Given the description of an element on the screen output the (x, y) to click on. 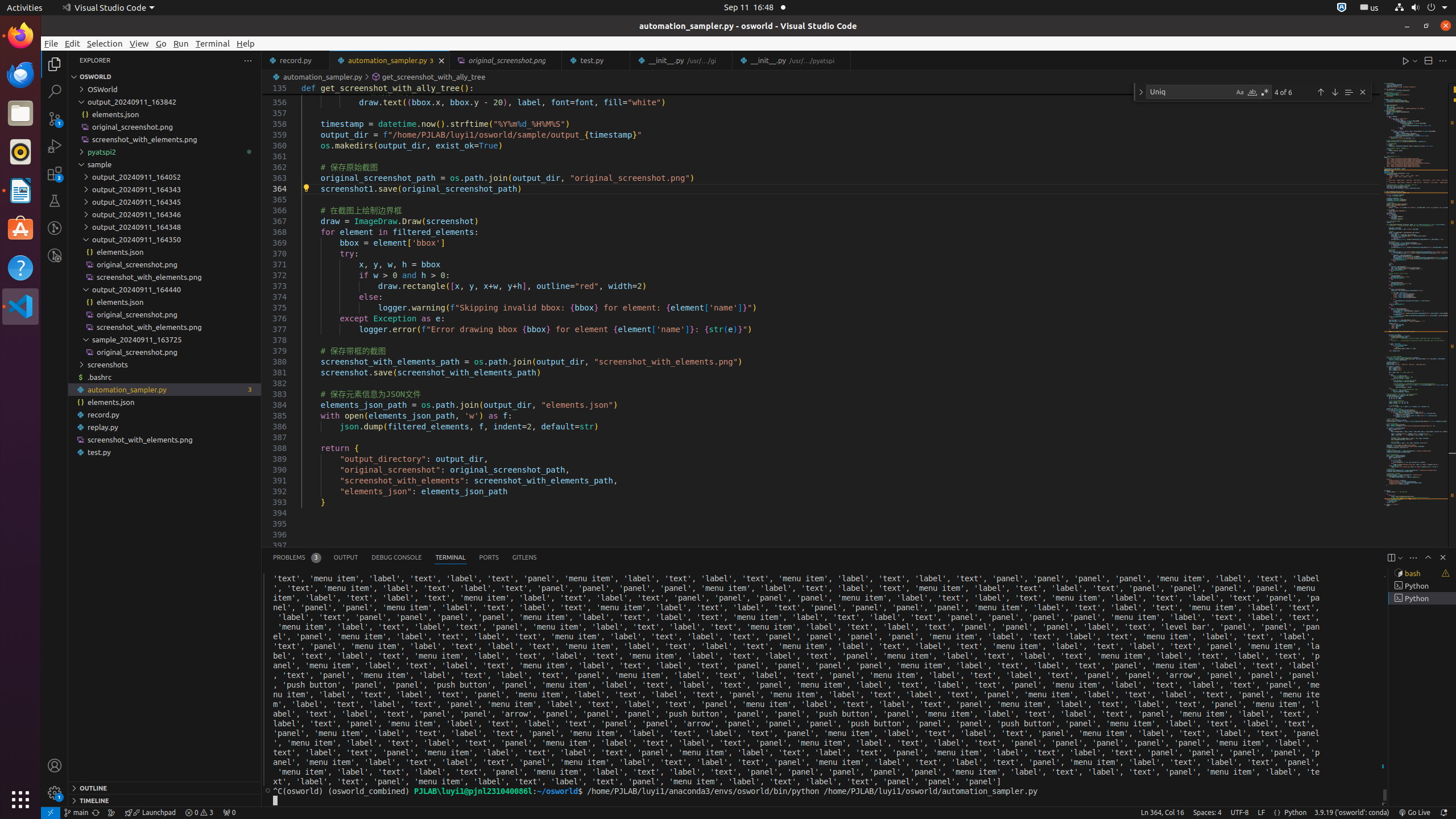
sample Element type: tree-item (164, 164)
GitLens Inspect Element type: page-tab (54, 255)
rocket gitlens-unplug Launchpad, GitLens Launchpad ᴘʀᴇᴠɪᴇᴡ    &mdash;    [$(question)](command:gitlens.launchpad.indicator.action?%22info%22 "What is this?") [$(gear)](command:workbench.action.openSettings?%22gitlens.launchpad%22 "Settings")  |  [$(circle-slash) Hide](command:gitlens.launchpad.indicator.action?%22hide%22 "Hide") --- [Launchpad](command:gitlens.launchpad.indicator.action?%info%22 "Learn about Launchpad") organizes your pull requests into actionable groups to help you focus and keep your team unblocked. It's always accessible using the `GitLens: Open Launchpad` command from the Command Palette. --- [Connect an integration](command:gitlens.showLaunchpad?%7B%22source%22%3A%22launchpad-indicator%22%7D "Connect an integration") to get started. Element type: push-button (150, 812)
